Given the description of an element on the screen output the (x, y) to click on. 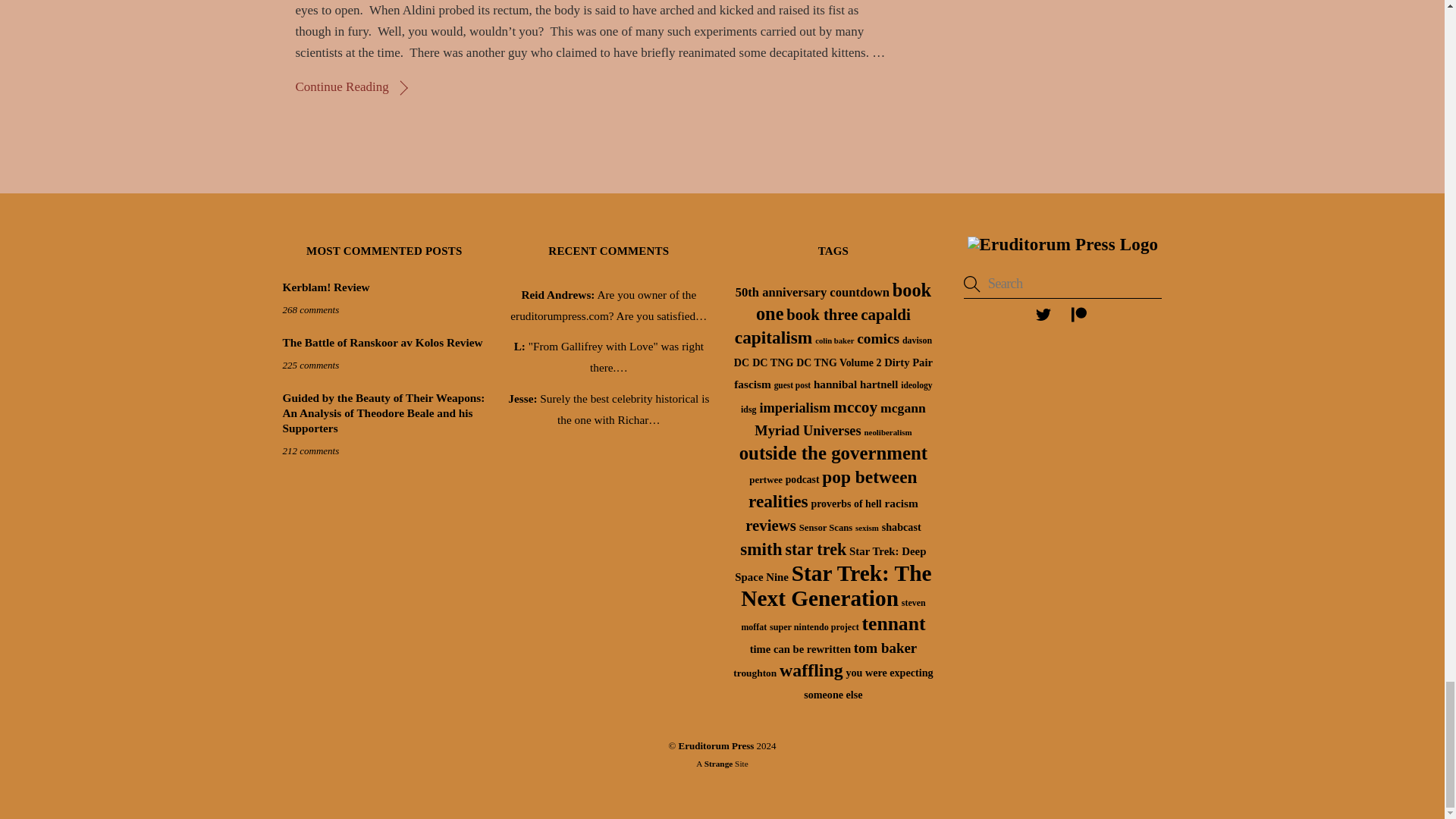
Search (1062, 283)
Strange Specimen (718, 763)
Eruditorum Press (1063, 244)
Eruditorum Press Logo (1063, 244)
